Given the description of an element on the screen output the (x, y) to click on. 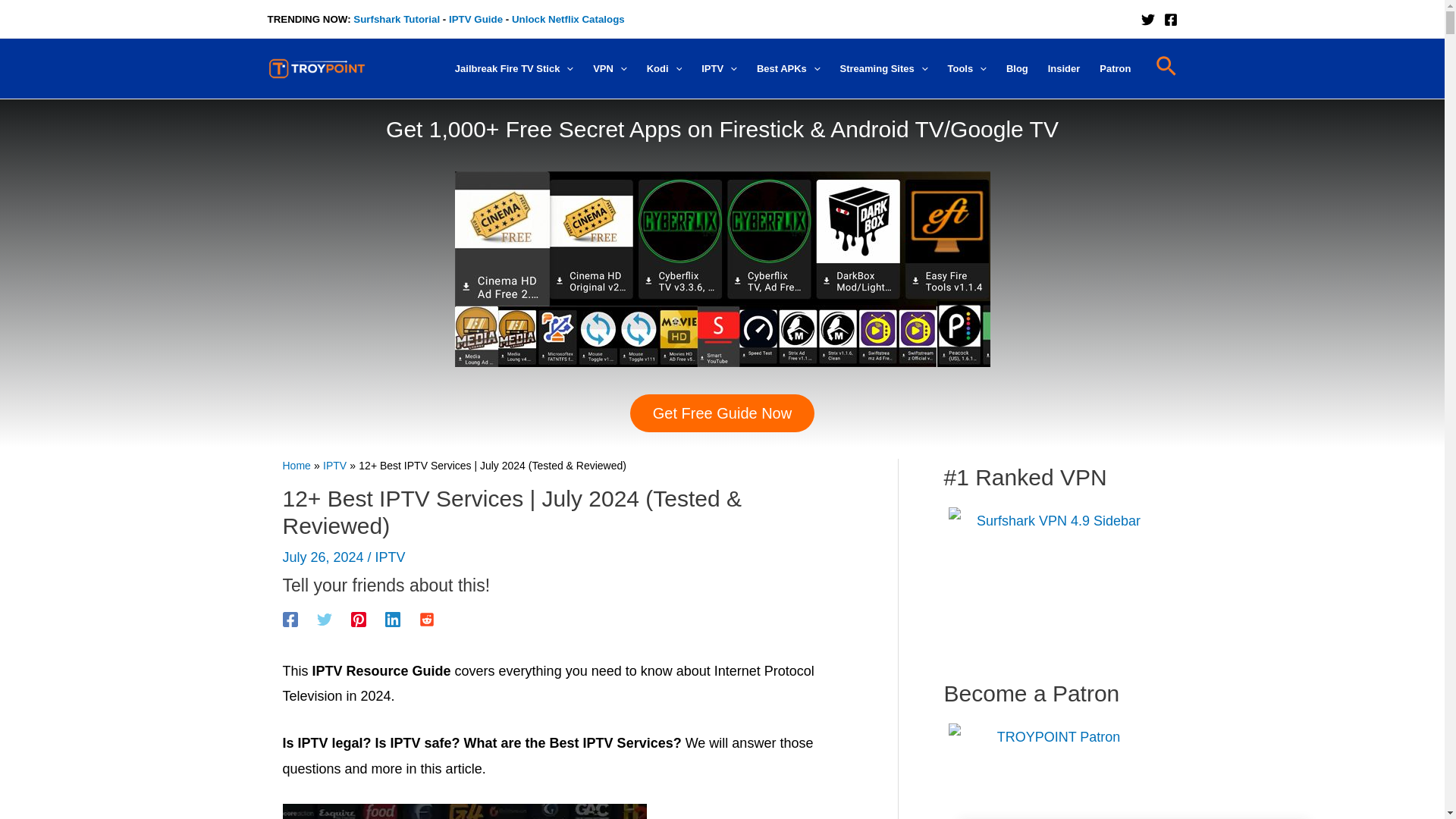
VPN (609, 68)
Best APKs (787, 68)
IPTV (718, 68)
IPTV Guide (475, 19)
Kodi (665, 68)
Surfshark Tutorial (396, 19)
Unlock Netflix Catalogs (568, 19)
Jailbreak Fire TV Stick (514, 68)
